Given the description of an element on the screen output the (x, y) to click on. 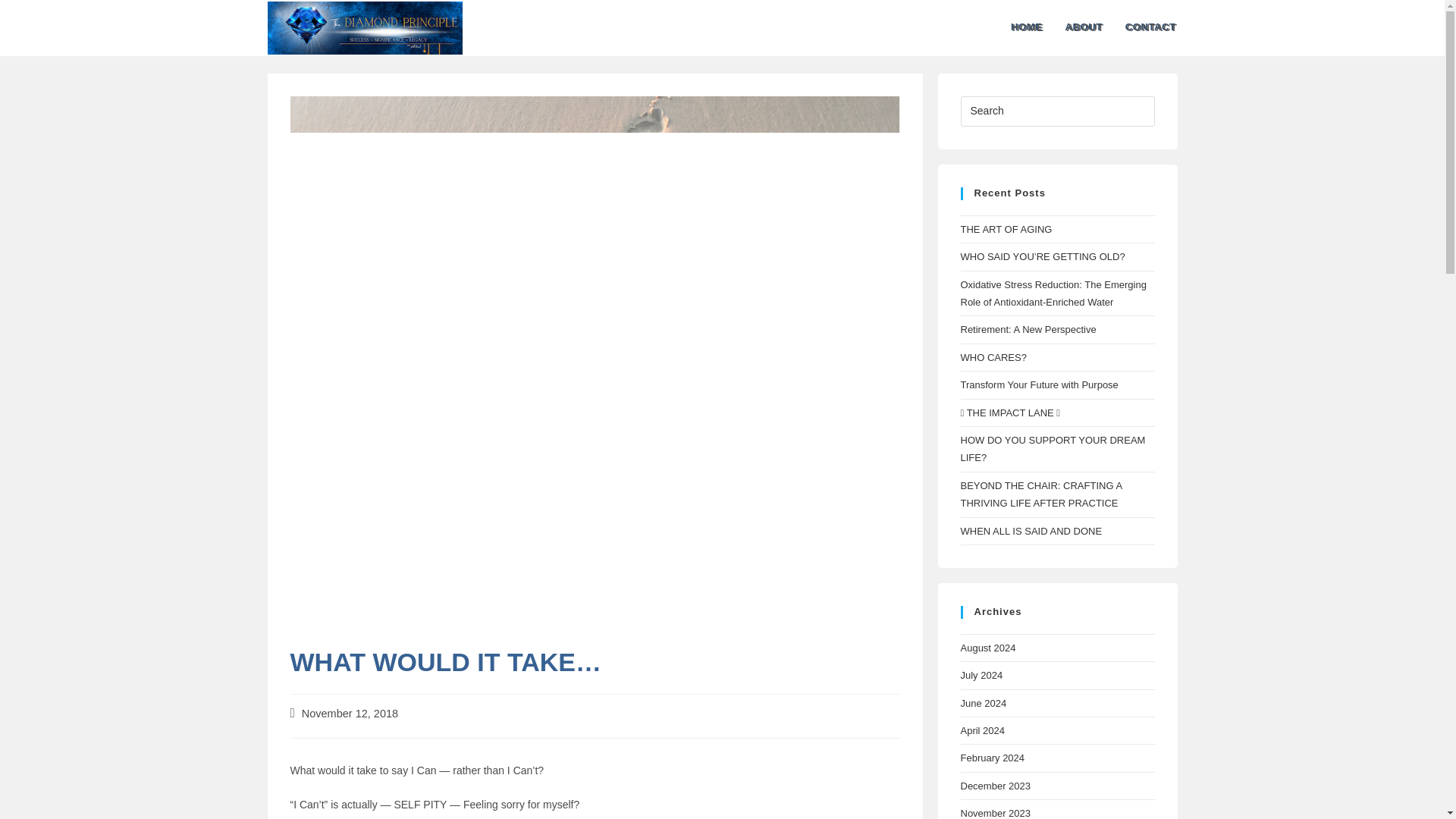
CONTACT (1152, 28)
WHO CARES? (992, 357)
THE ART OF AGING (1005, 229)
August 2024 (986, 647)
WHEN ALL IS SAID AND DONE (1030, 531)
Retirement: A New Perspective (1027, 328)
BEYOND THE CHAIR: CRAFTING A THRIVING LIFE AFTER PRACTICE (1040, 493)
December 2023 (994, 785)
November 2023 (994, 813)
